Given the description of an element on the screen output the (x, y) to click on. 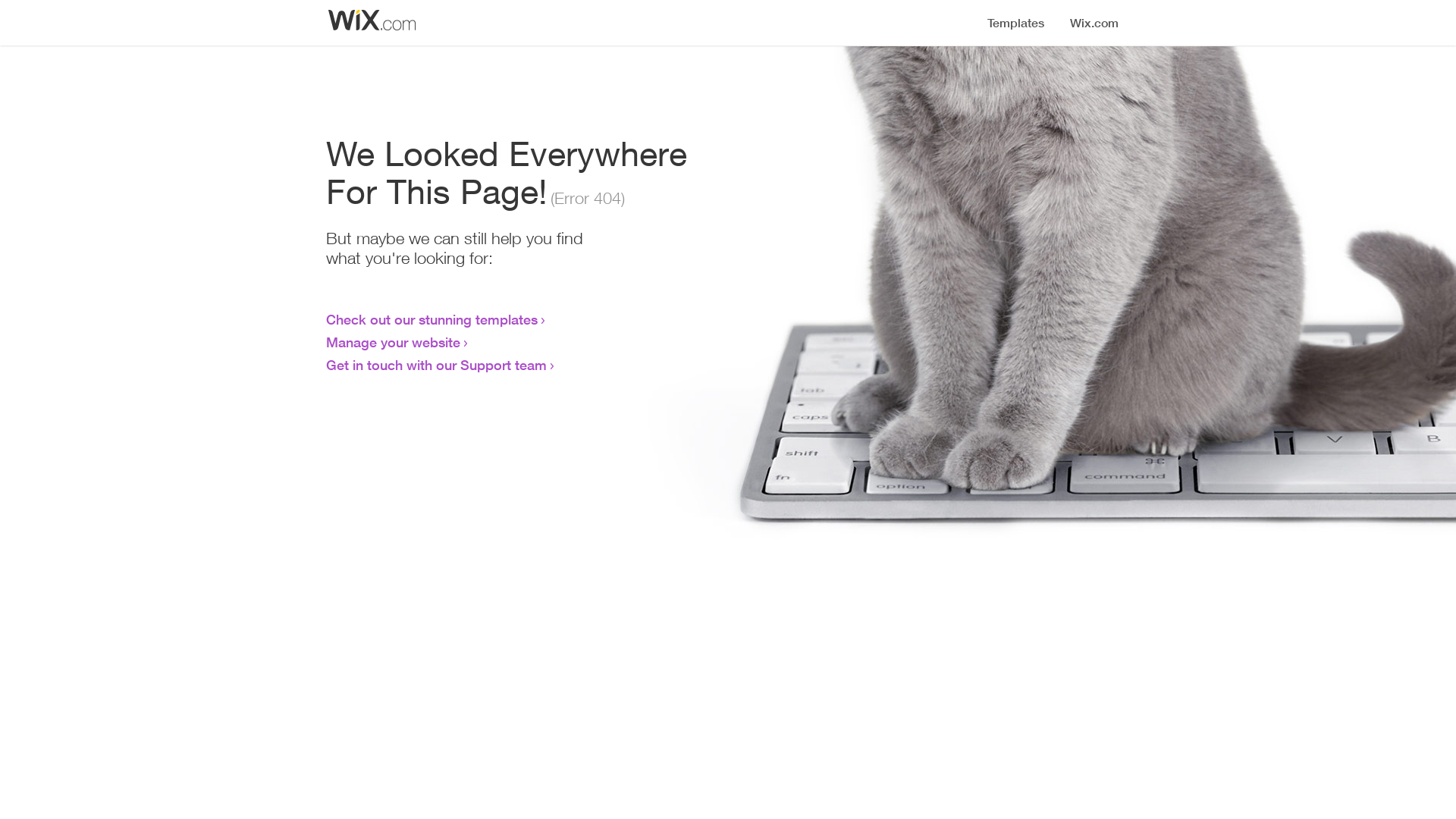
Check out our stunning templates Element type: text (431, 318)
Get in touch with our Support team Element type: text (436, 364)
Manage your website Element type: text (393, 341)
